Given the description of an element on the screen output the (x, y) to click on. 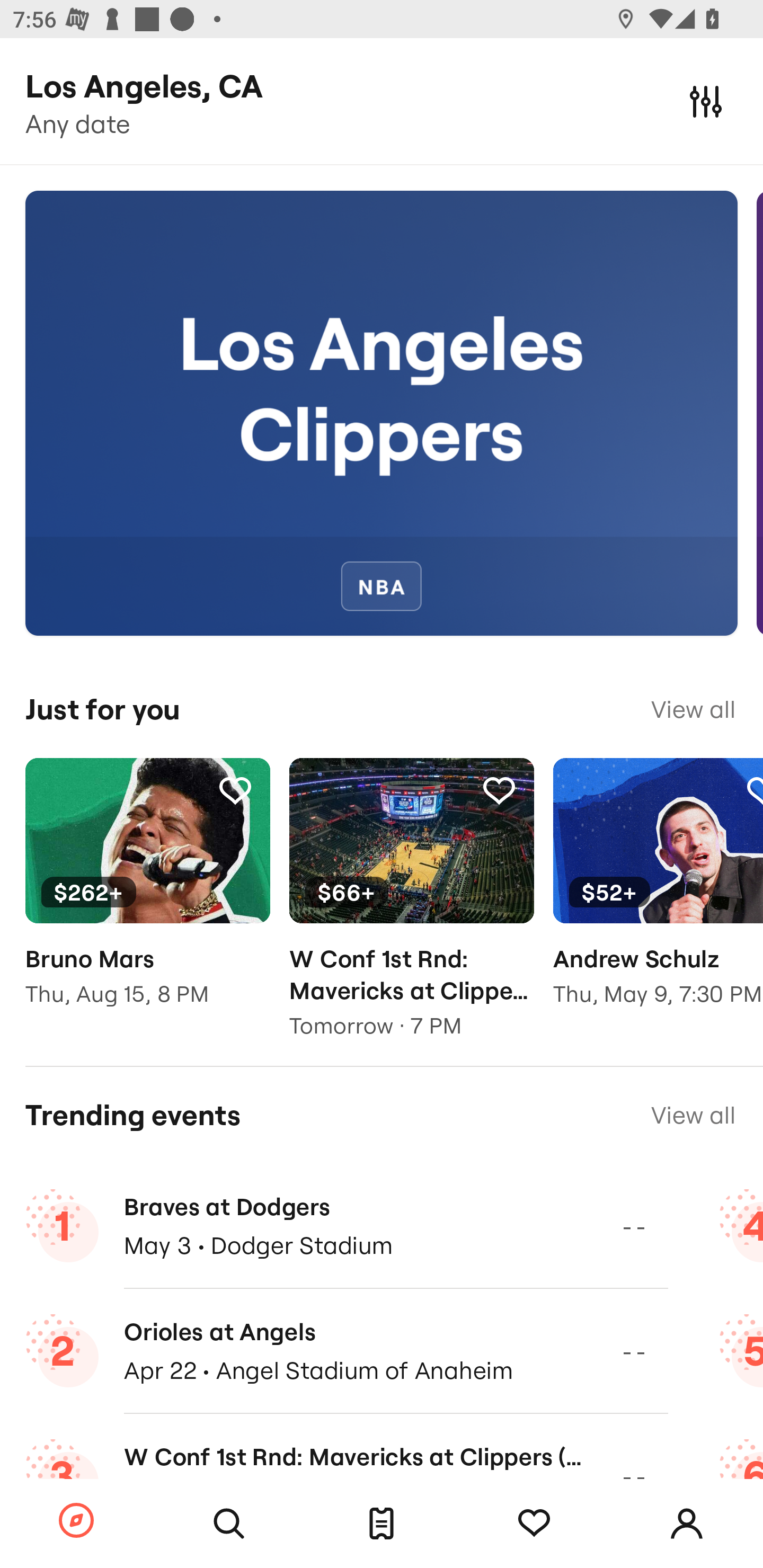
Filters (705, 100)
View all (693, 709)
Tracking $262+ Bruno Mars Thu, Aug 15, 8 PM (147, 895)
Tracking $52+ Andrew Schulz Thu, May 9, 7:30 PM (658, 895)
Tracking (234, 790)
Tracking (498, 790)
View all (693, 1114)
Browse (76, 1521)
Search (228, 1523)
Tickets (381, 1523)
Tracking (533, 1523)
Account (686, 1523)
